Given the description of an element on the screen output the (x, y) to click on. 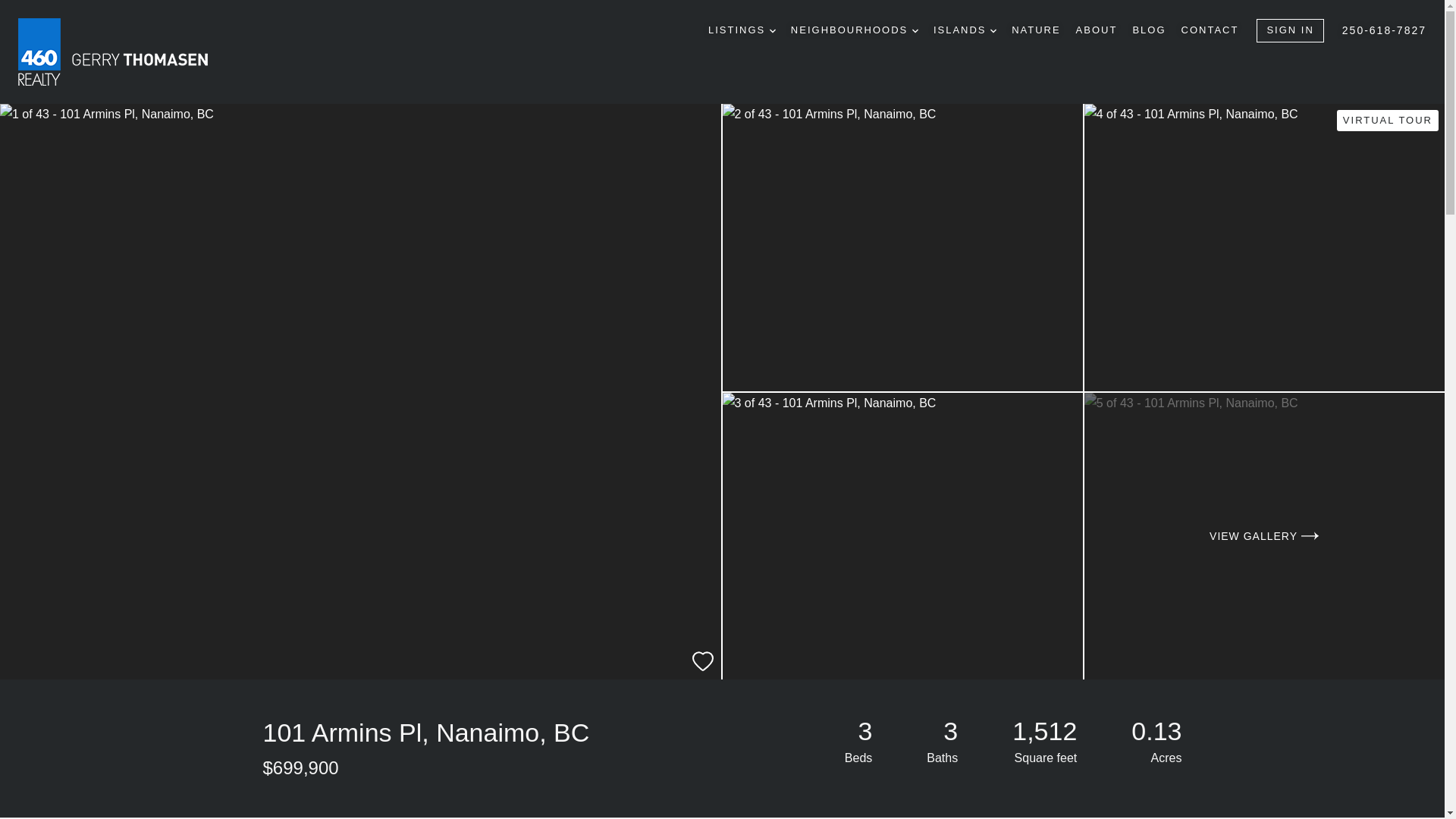
LIST OF NANAIMO NEIGHBOURHOODS (915, 30)
GULF ISLANDS NEAR NANAIMO (992, 30)
NEIGHBOURHOODS LIST OF NANAIMO NEIGHBOURHOODS (854, 30)
LISTINGS REAL ESTATE LISTINGS SEARCH (741, 30)
REAL ESTATE LISTINGS SEARCH (773, 30)
ISLANDS GULF ISLANDS NEAR NANAIMO (964, 30)
